Given the description of an element on the screen output the (x, y) to click on. 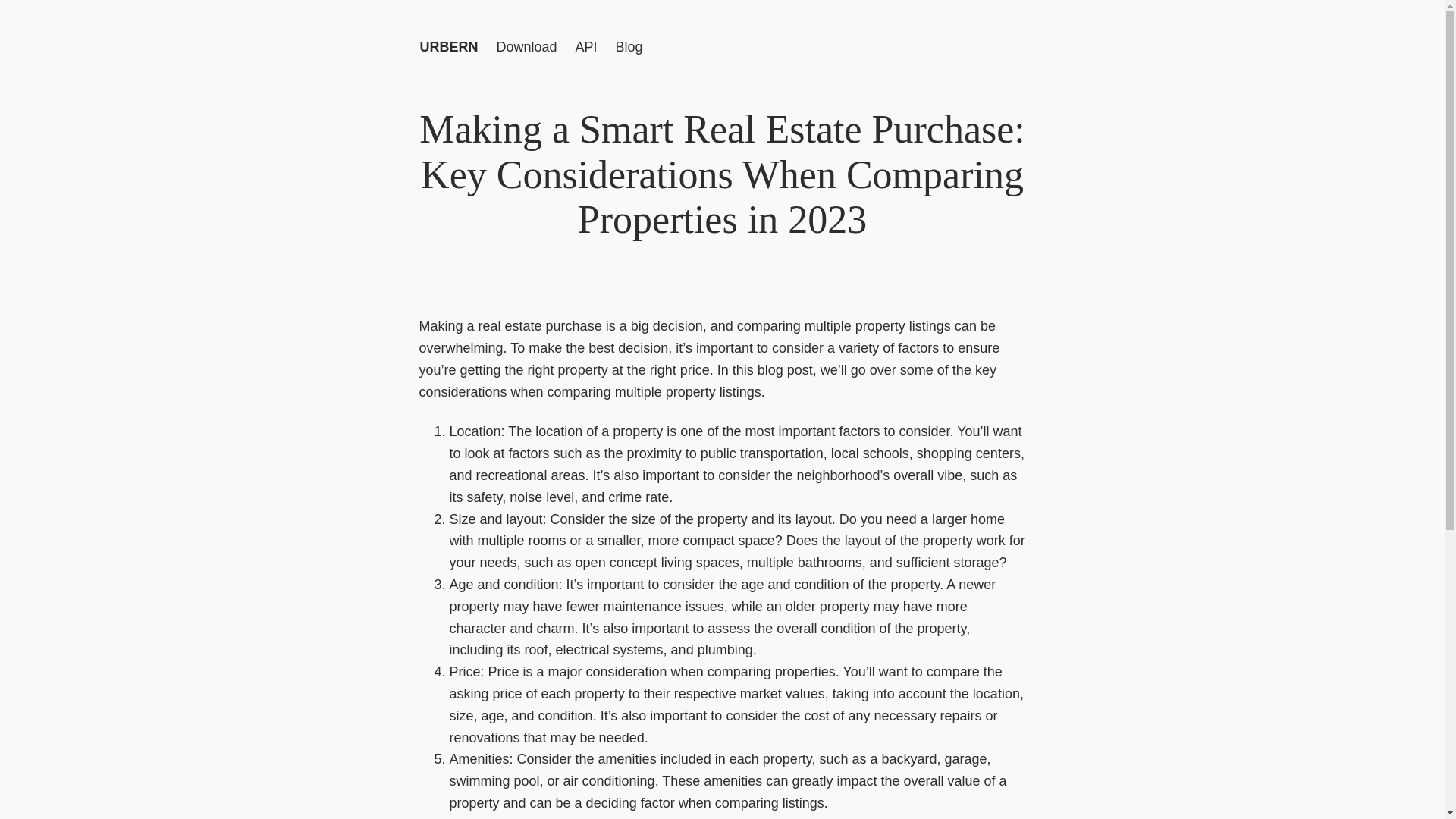
API (585, 47)
Blog (629, 47)
Download (526, 47)
